Given the description of an element on the screen output the (x, y) to click on. 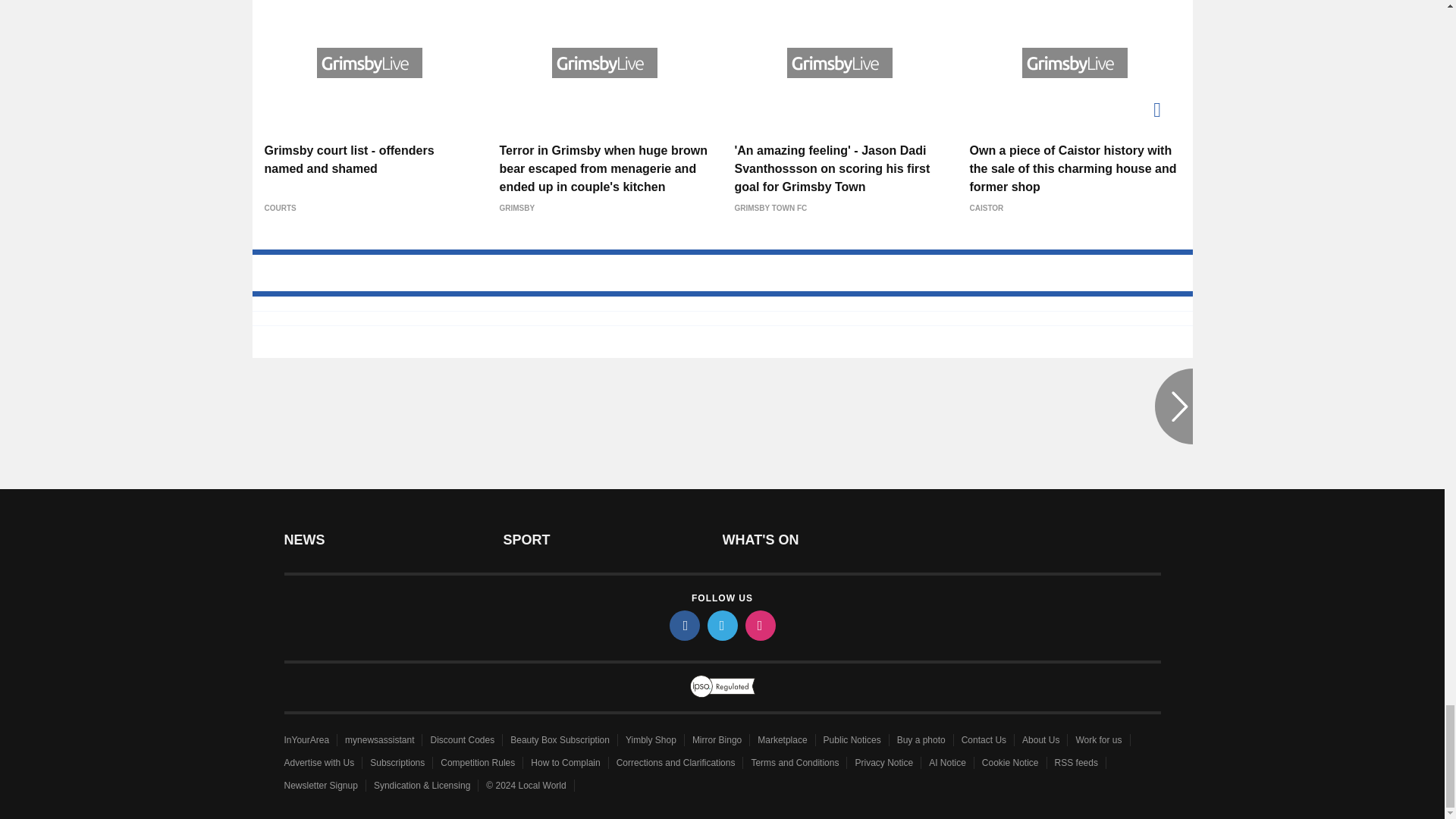
facebook (683, 625)
twitter (721, 625)
instagram (759, 625)
